Given the description of an element on the screen output the (x, y) to click on. 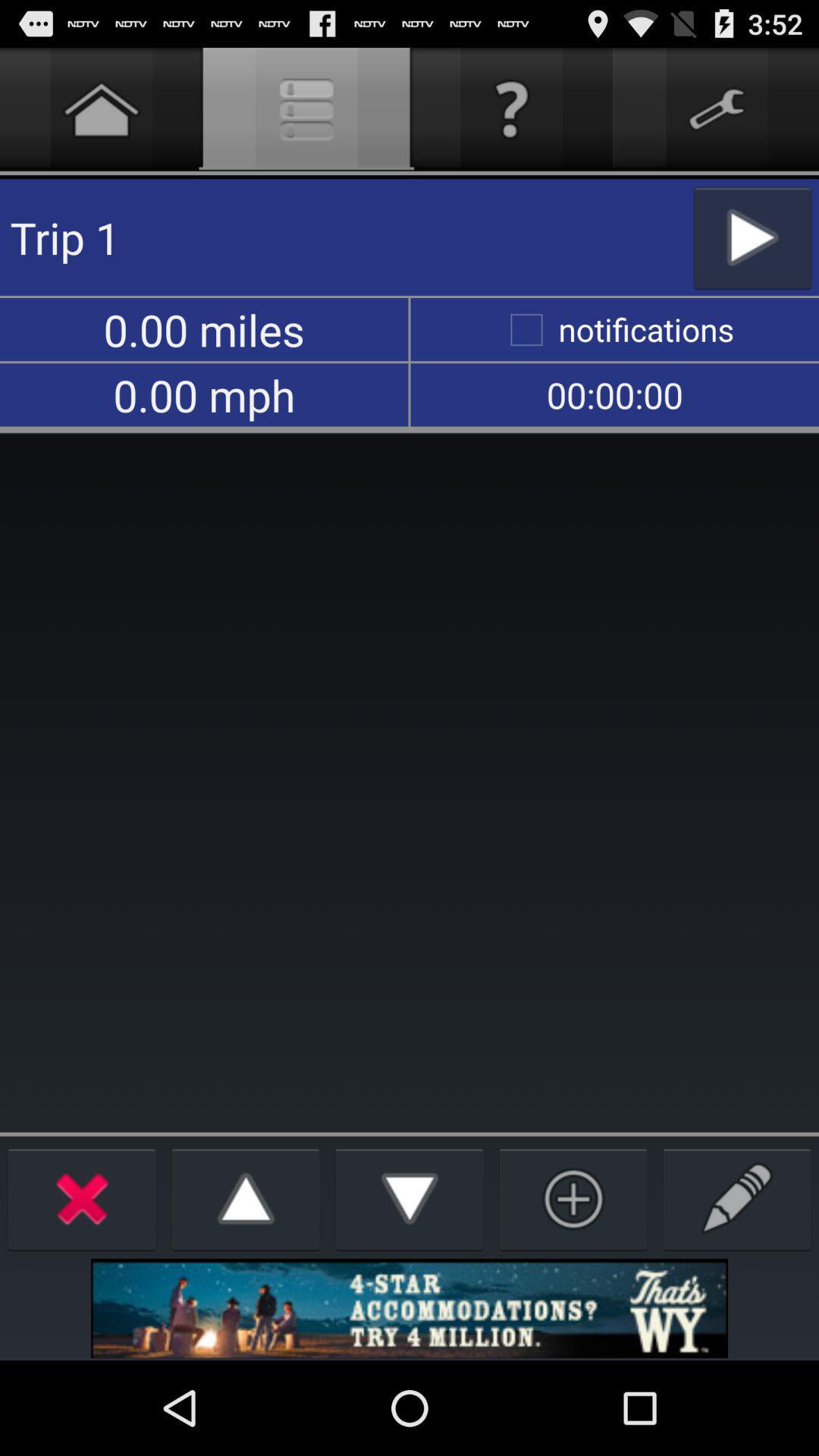
increase (245, 1198)
